Given the description of an element on the screen output the (x, y) to click on. 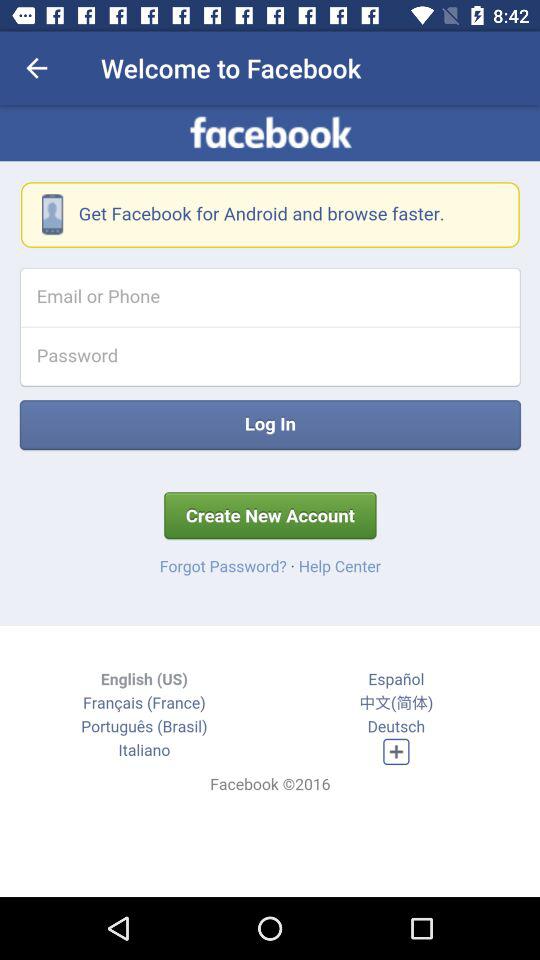
facebook log in page (270, 501)
